Given the description of an element on the screen output the (x, y) to click on. 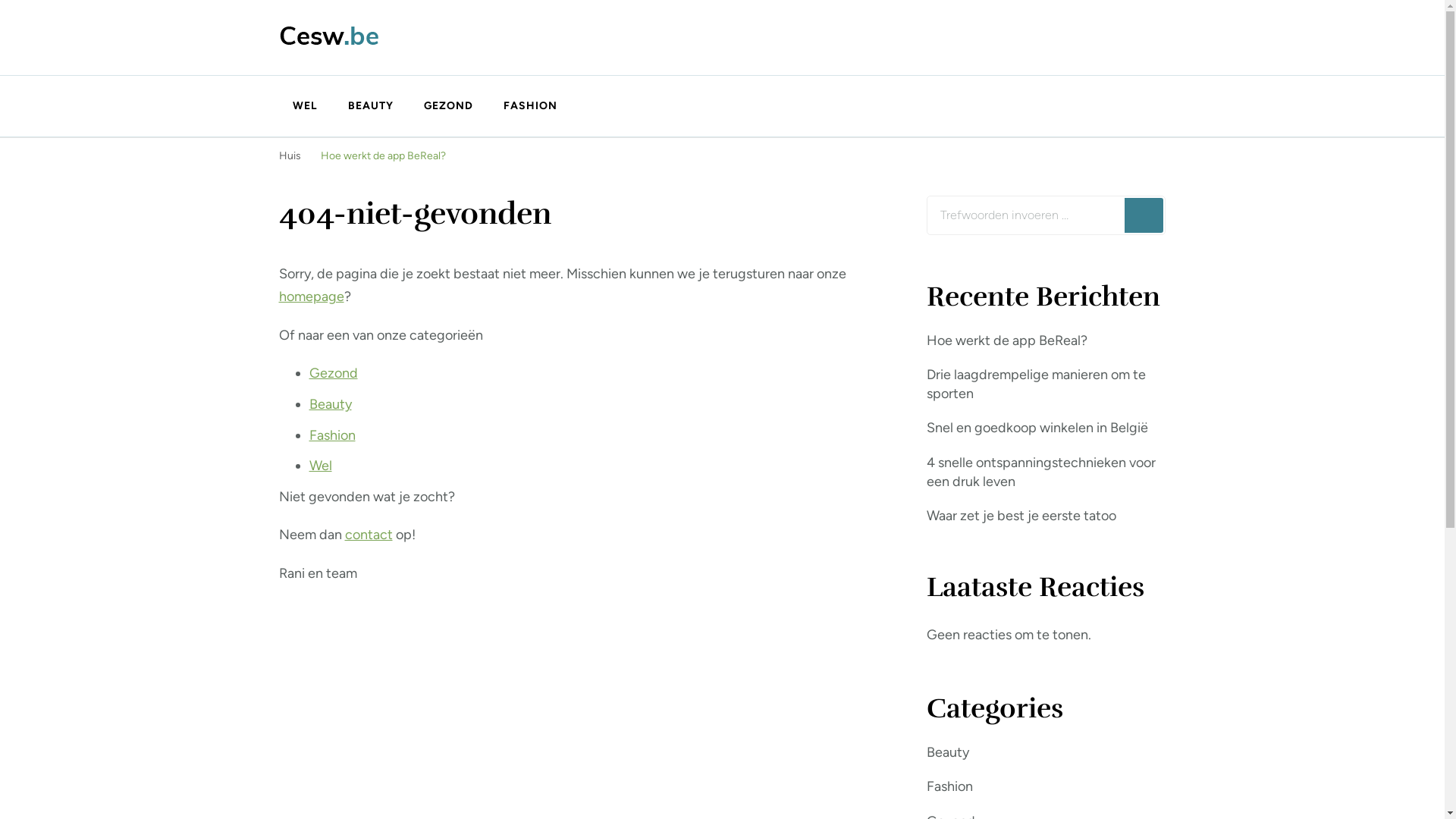
Hoe werkt de app BeReal? Element type: text (382, 155)
Gezond Element type: text (333, 372)
Fashion Element type: text (332, 434)
Waar zet je best je eerste tatoo Element type: text (1021, 515)
Fashion Element type: text (949, 786)
GEZOND Element type: text (447, 105)
Cesw.be Element type: text (344, 69)
FASHION Element type: text (523, 105)
Zoeken Element type: text (1143, 214)
Beauty Element type: text (330, 403)
contact Element type: text (368, 534)
WEL Element type: text (305, 105)
4 snelle ontspanningstechnieken voor een druk leven Element type: text (1046, 472)
Hoe werkt de app BeReal? Element type: text (1006, 340)
homepage Element type: text (311, 296)
Beauty Element type: text (947, 752)
BEAUTY Element type: text (369, 105)
Drie laagdrempelige manieren om te sporten Element type: text (1046, 384)
Huis Element type: text (290, 155)
Wel Element type: text (320, 465)
